Given the description of an element on the screen output the (x, y) to click on. 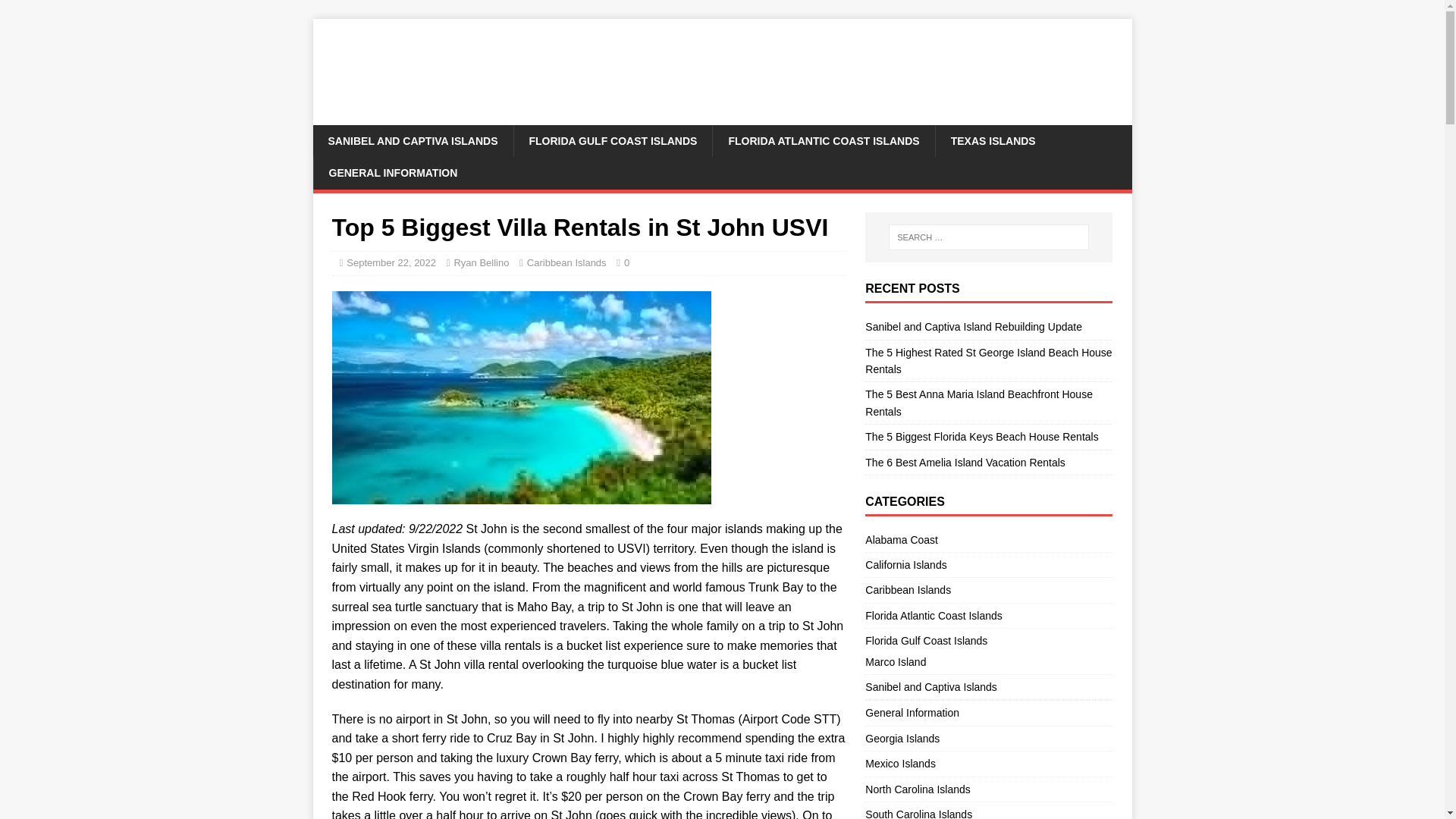
Florida Gulf Coast Islands (988, 640)
FLORIDA GULF COAST ISLANDS (613, 141)
Caribbean Islands (567, 262)
Florida Atlantic Coast Islands (988, 615)
The 6 Best Amelia Island Vacation Rentals (964, 462)
The 5 Biggest Florida Keys Beach House Rentals (980, 436)
Alabama Coast (988, 541)
Caribbean Islands (988, 589)
The 5 Best Anna Maria Island Beachfront House Rentals (978, 402)
Search (56, 11)
GENERAL INFORMATION (392, 173)
The 5 Highest Rated St George Island Beach House Rentals (988, 360)
September 22, 2022 (390, 262)
California Islands (988, 564)
FLORIDA ATLANTIC COAST ISLANDS (822, 141)
